Given the description of an element on the screen output the (x, y) to click on. 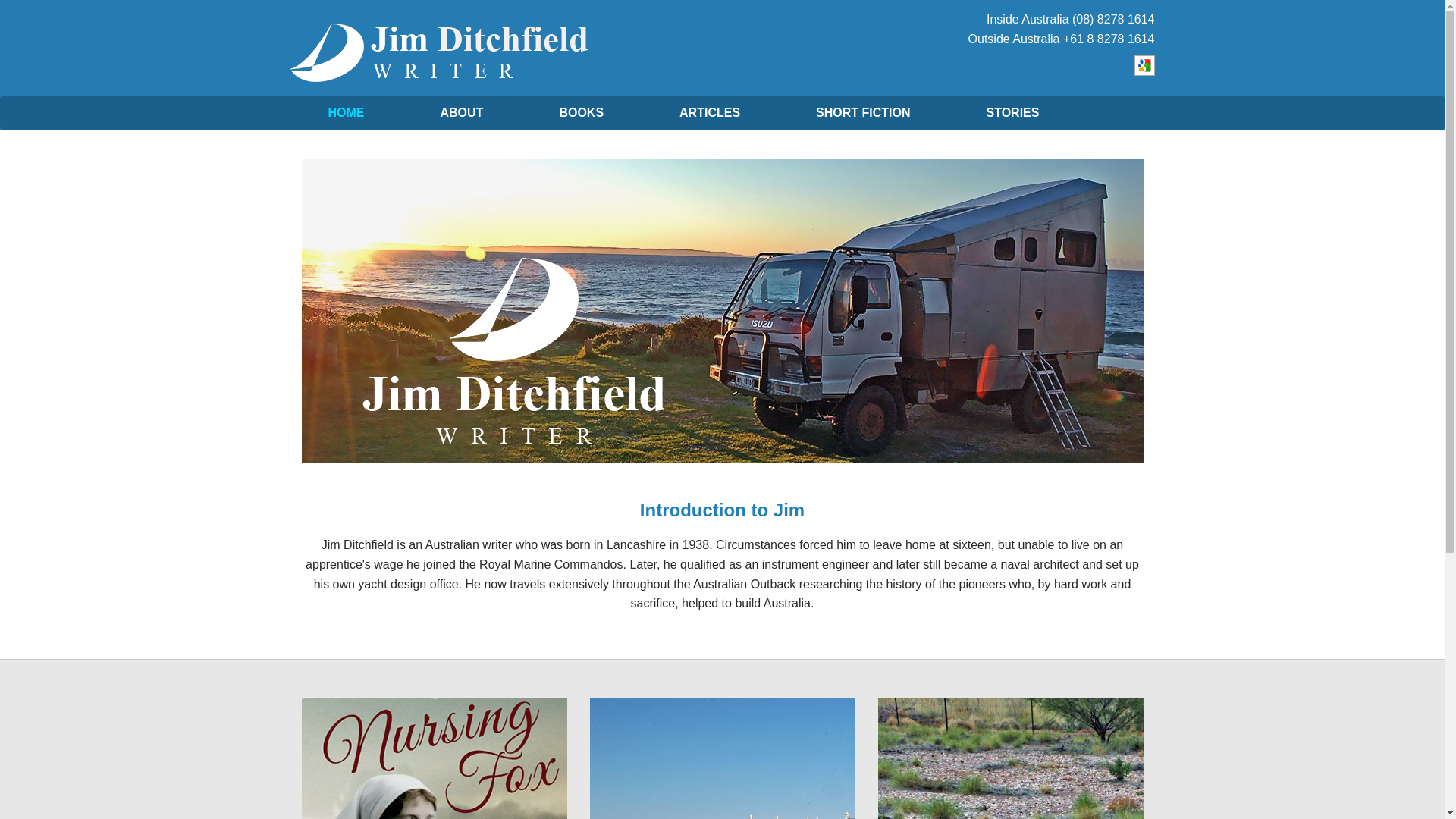
BOOKS Element type: text (580, 112)
ARTICLES Element type: text (709, 112)
HOME Element type: text (345, 112)
STORIES Element type: text (1011, 112)
ABOUT Element type: text (461, 112)
SHORT FICTION Element type: text (862, 112)
